Given the description of an element on the screen output the (x, y) to click on. 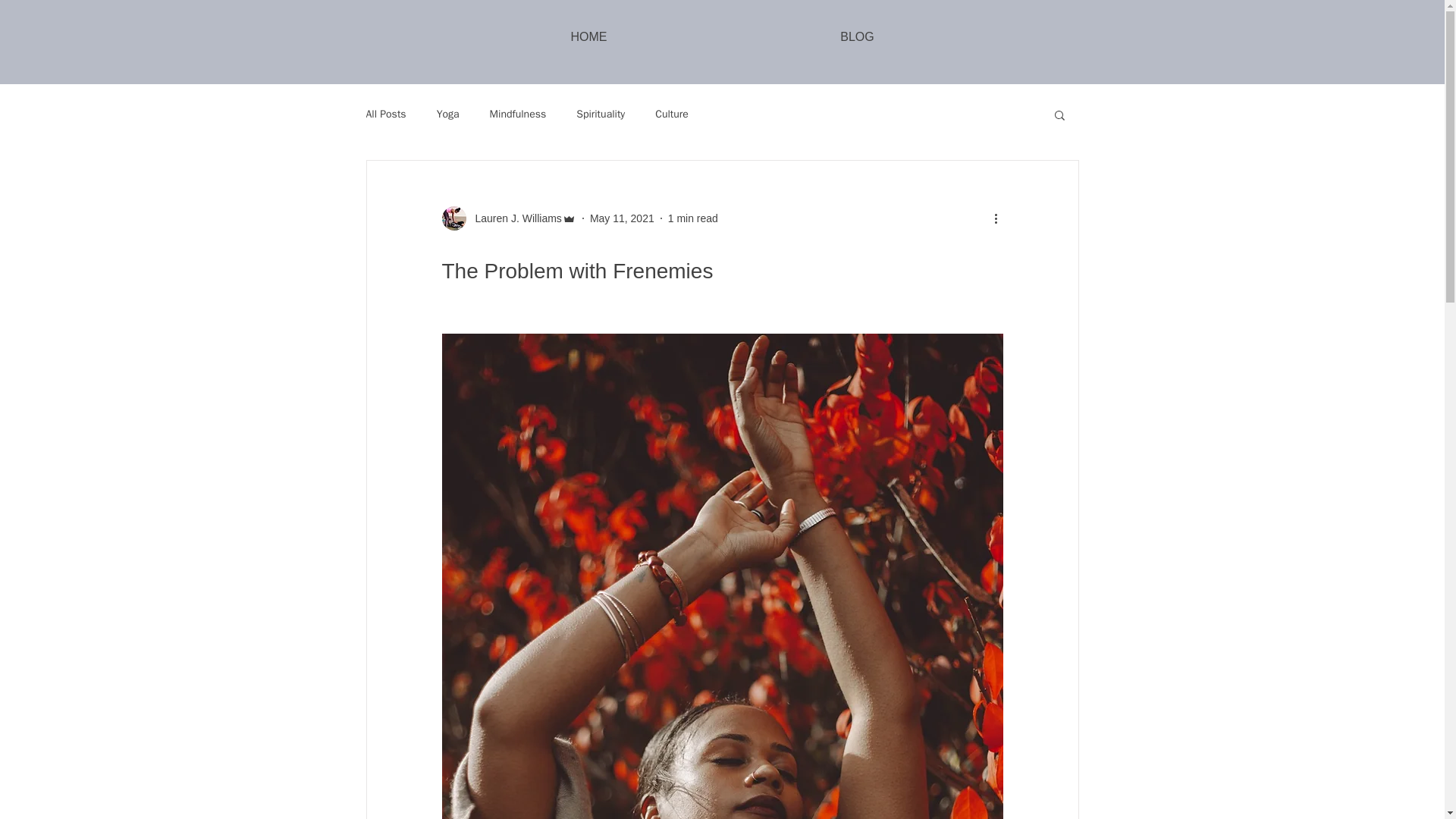
Mindfulness (518, 114)
1 min read (692, 218)
Spirituality (600, 114)
Lauren J. Williams (508, 218)
Culture (671, 114)
Yoga (448, 114)
Lauren J. Williams (512, 218)
May 11, 2021 (621, 218)
All Posts (385, 114)
BLOG (856, 37)
HOME (587, 37)
